Given the description of an element on the screen output the (x, y) to click on. 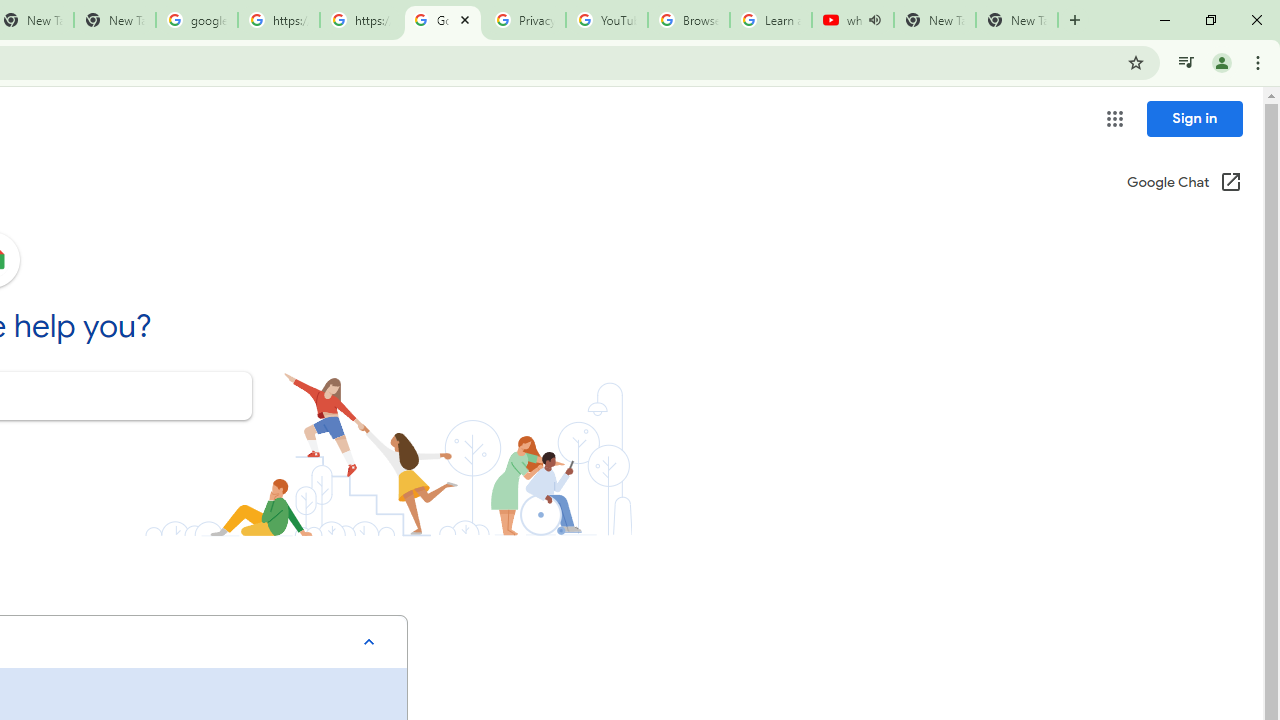
https://scholar.google.com/ (278, 20)
https://scholar.google.com/ (360, 20)
New Tab (1016, 20)
YouTube (606, 20)
